Given the description of an element on the screen output the (x, y) to click on. 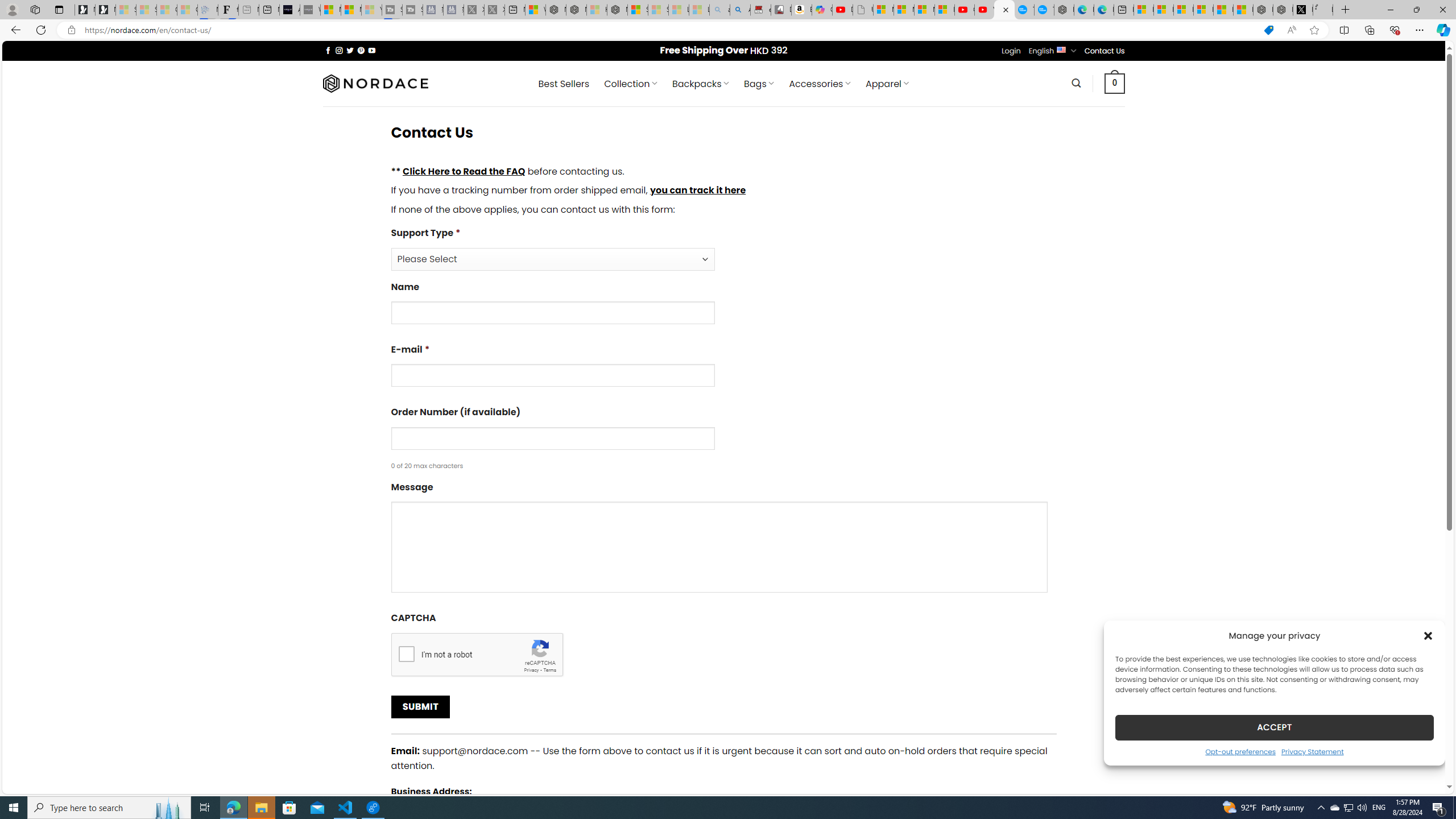
ACCEPT (1274, 727)
English (1061, 49)
I'm not a robot (405, 653)
 Best Sellers (563, 83)
